Given the description of an element on the screen output the (x, y) to click on. 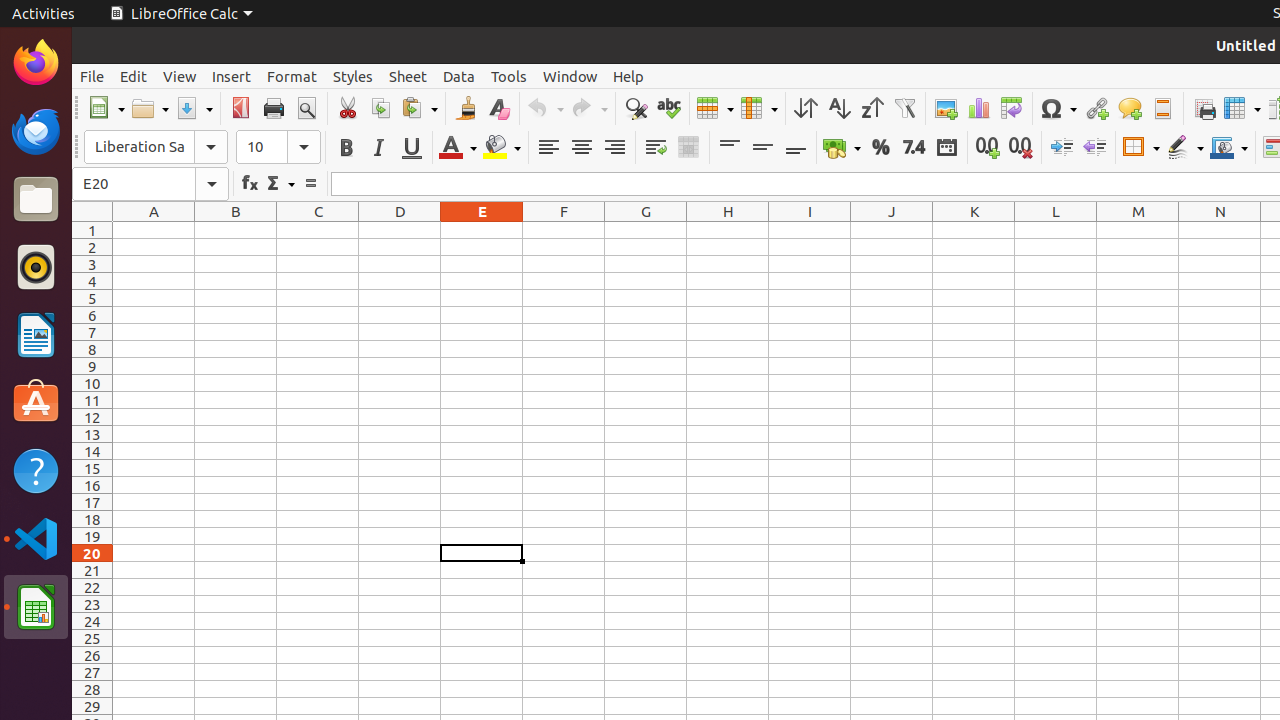
Edit Element type: menu (133, 76)
Borders (Shift to overwrite) Element type: push-button (1141, 147)
Redo Element type: push-button (589, 108)
Delete Decimal Place Element type: push-button (1020, 147)
Paste Element type: push-button (419, 108)
